Given the description of an element on the screen output the (x, y) to click on. 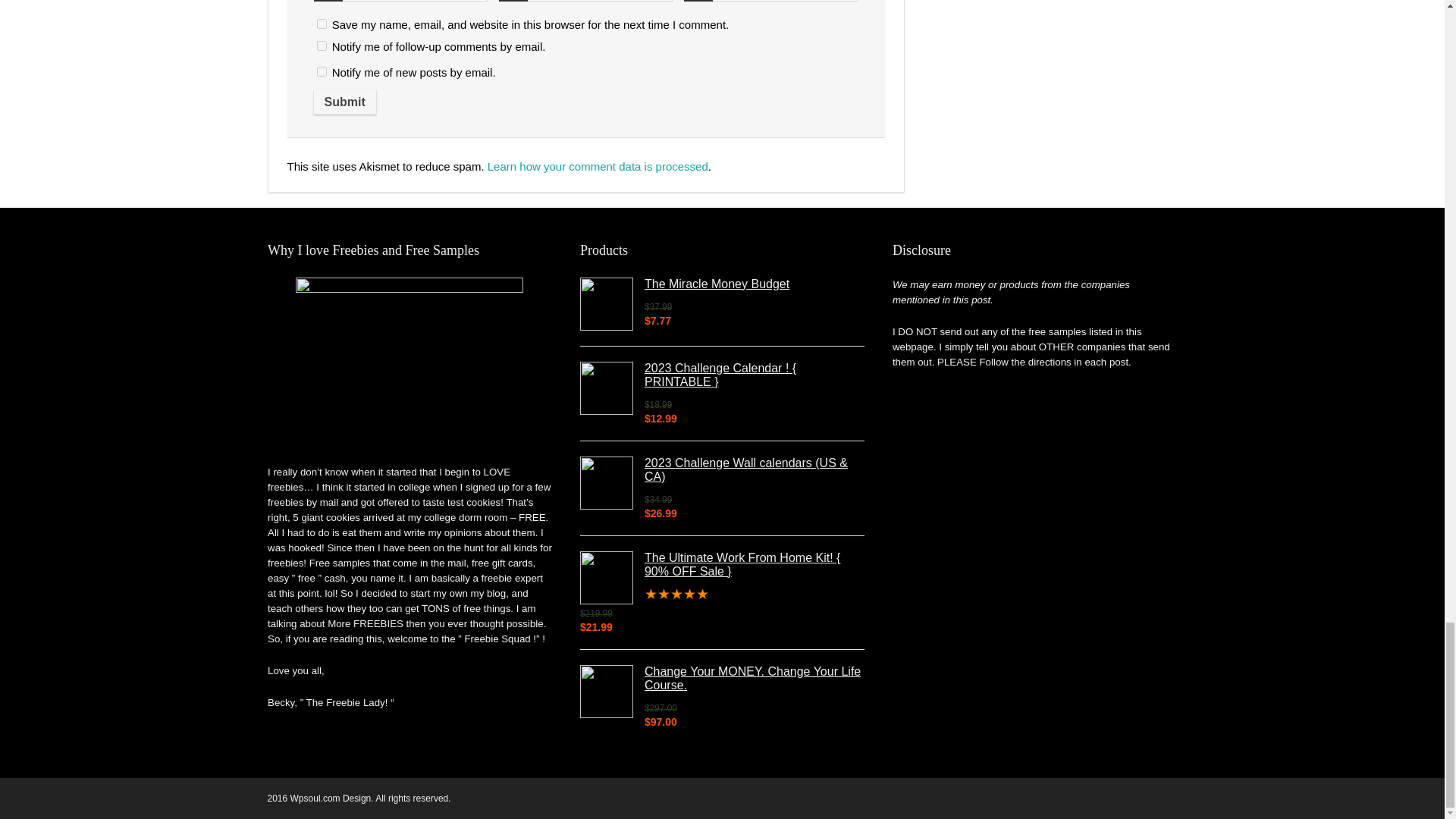
Rated 5 out of 5 (721, 594)
yes (321, 23)
Submit (344, 102)
subscribe (321, 45)
subscribe (321, 71)
